Given the description of an element on the screen output the (x, y) to click on. 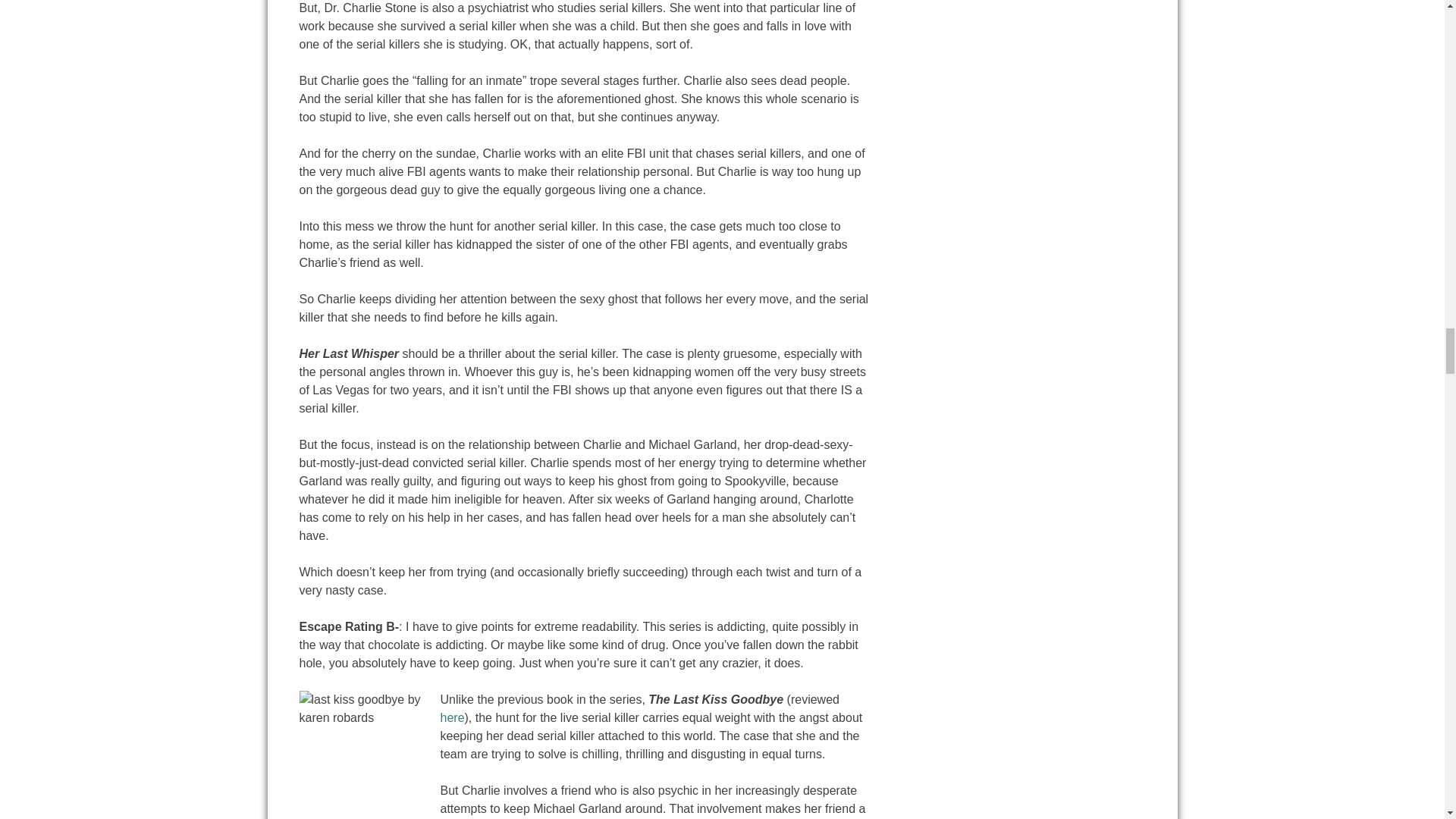
Review: The Last Kiss Goodbye by Karen Robards (451, 717)
